Given the description of an element on the screen output the (x, y) to click on. 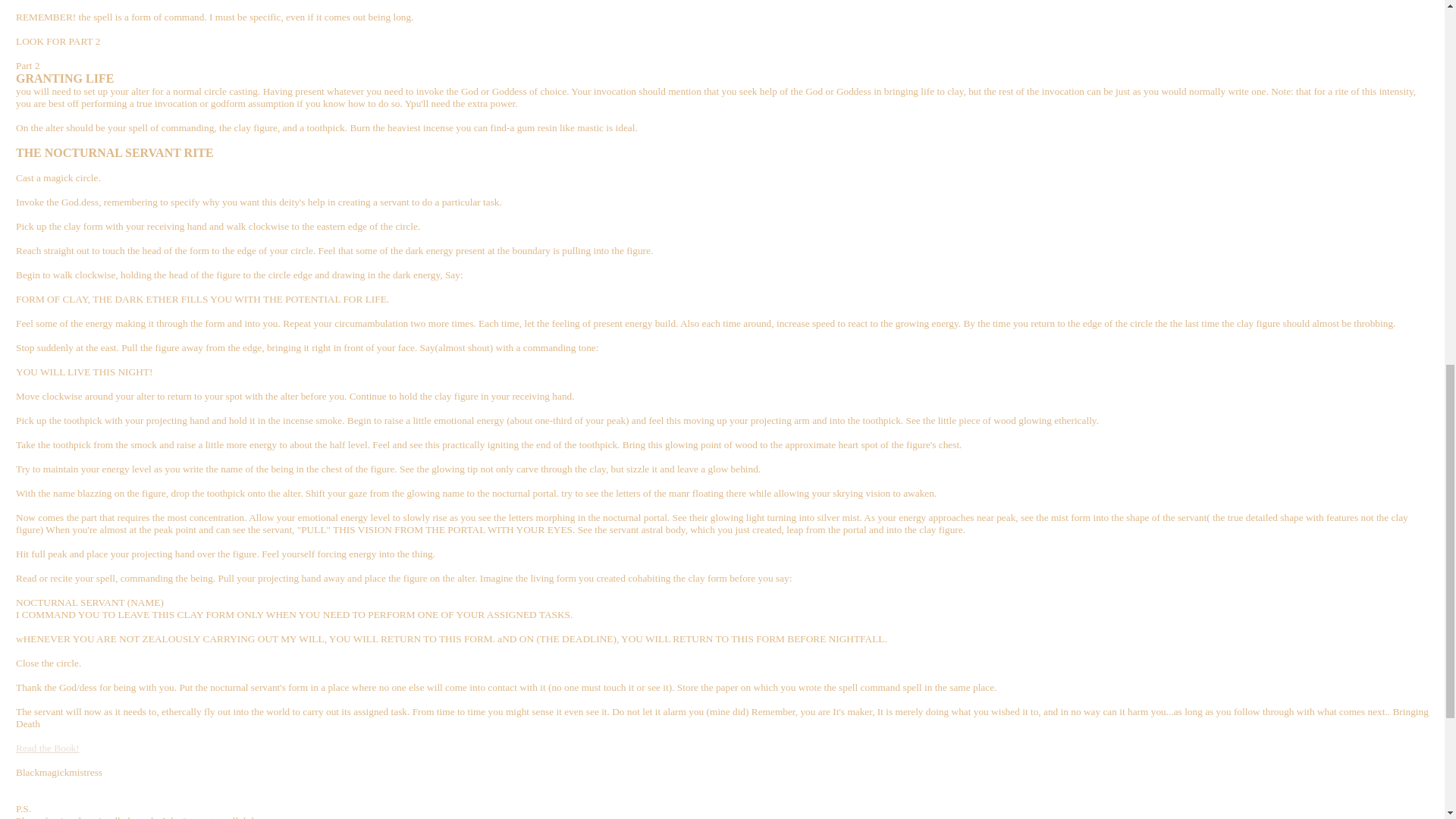
Read the Book! (48, 747)
